Given the description of an element on the screen output the (x, y) to click on. 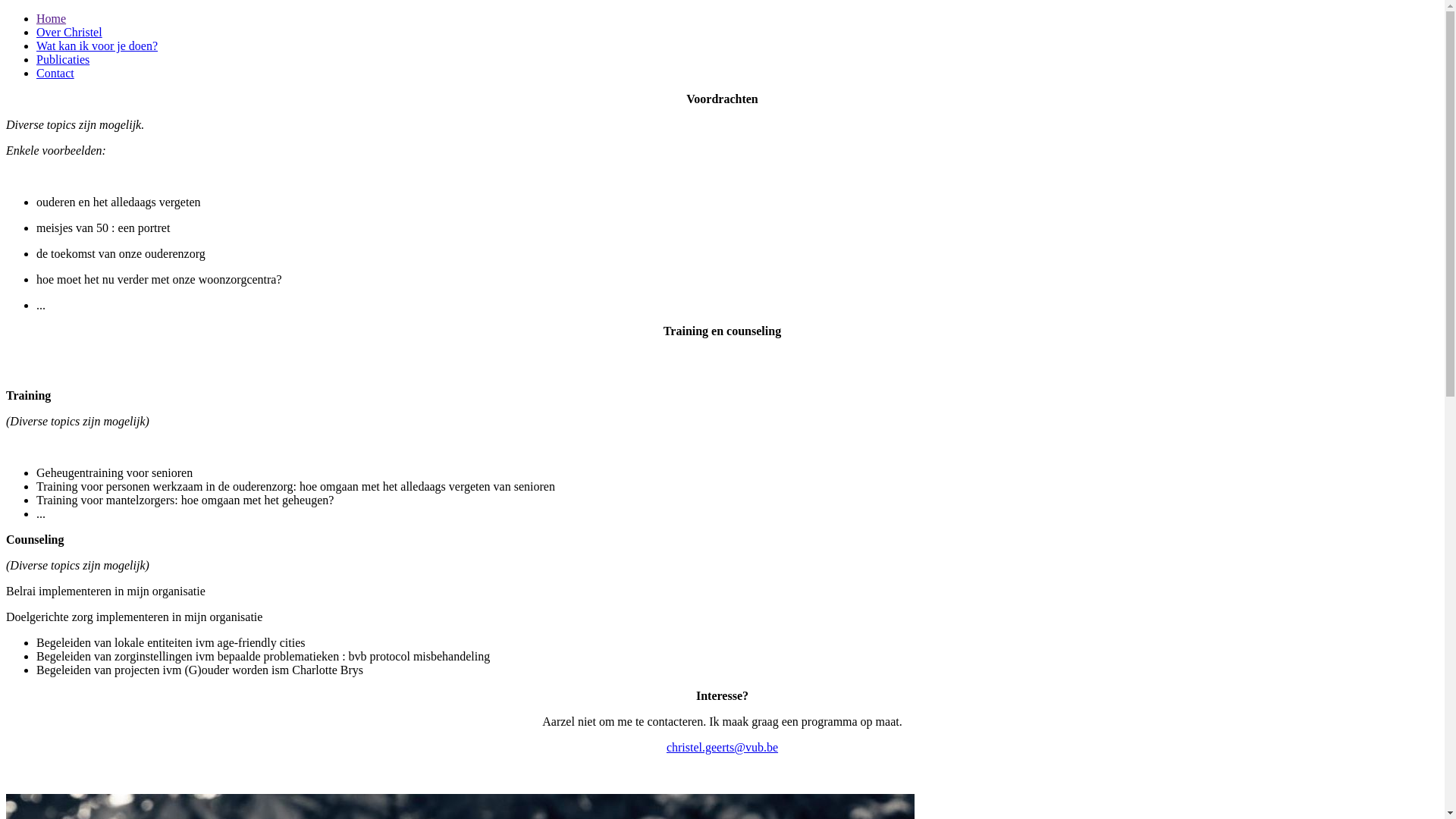
christel.geerts@vub.be Element type: text (722, 746)
Over Christel Element type: text (69, 31)
Home Element type: text (50, 18)
Contact Element type: text (55, 72)
Publicaties Element type: text (62, 59)
Wat kan ik voor je doen? Element type: text (96, 45)
